Given the description of an element on the screen output the (x, y) to click on. 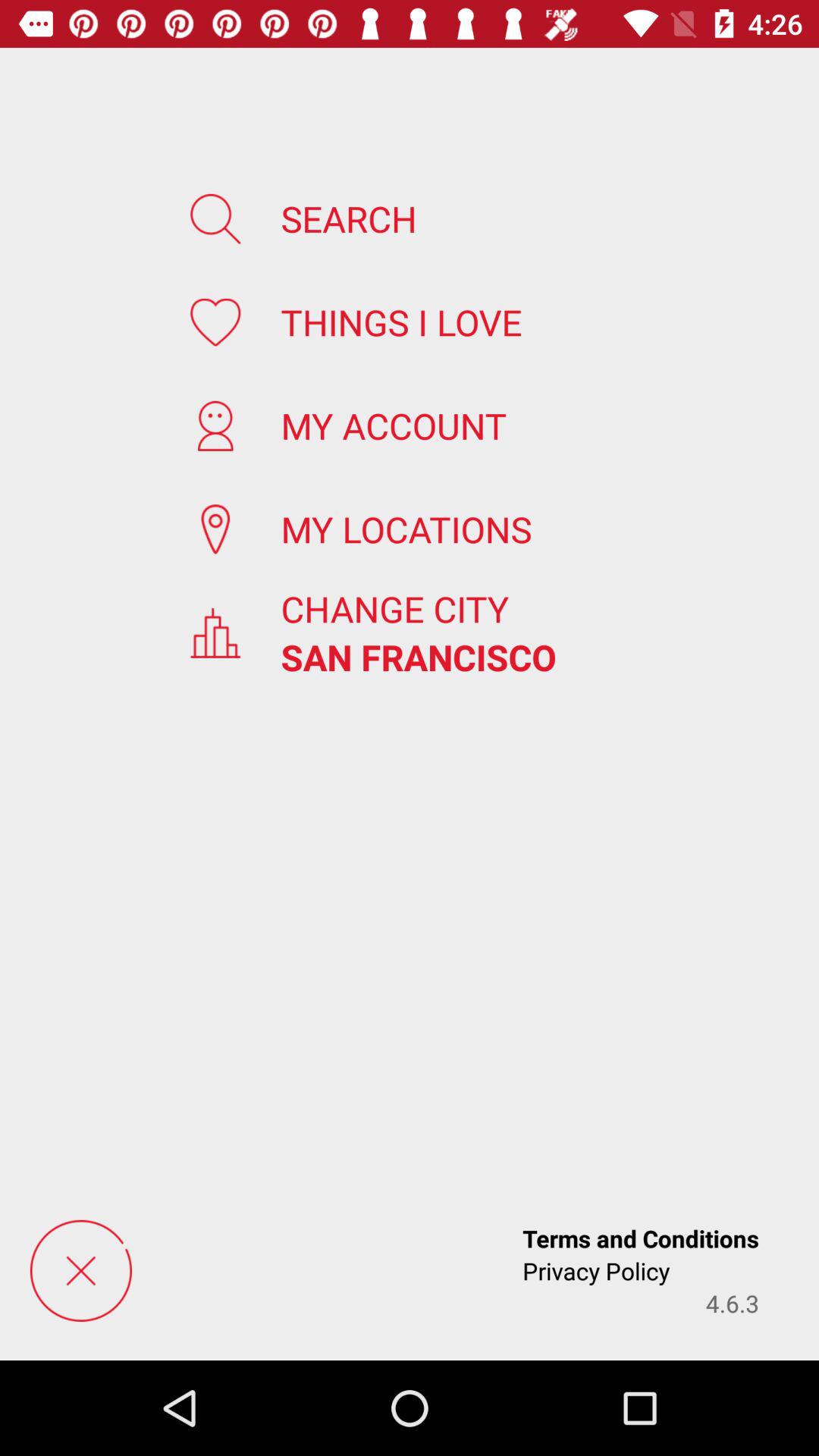
select the 4.6.3 app (732, 1303)
